Given the description of an element on the screen output the (x, y) to click on. 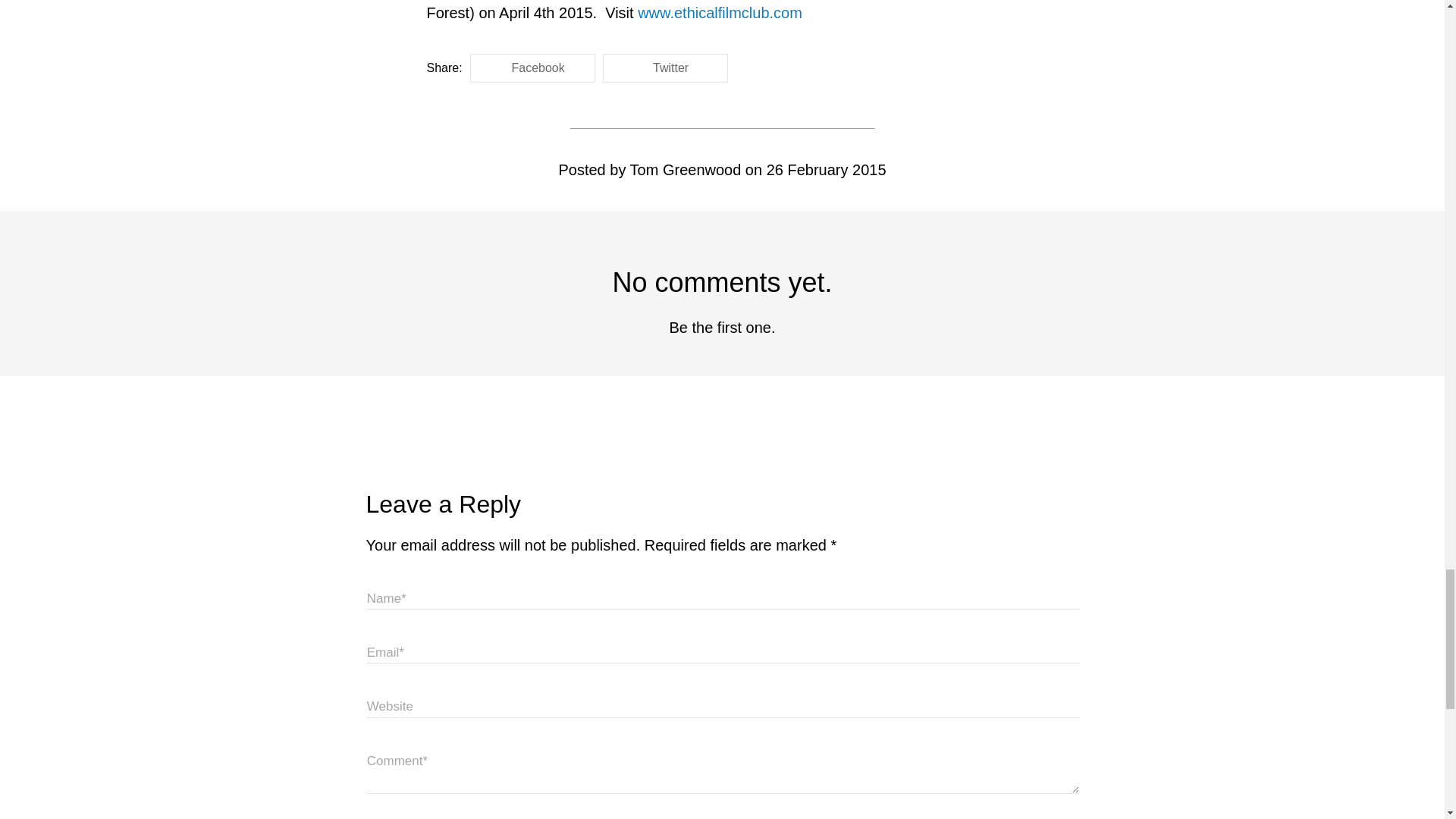
Share on Facebook (532, 68)
www.ethicalfilmclub.com (719, 12)
Facebook (532, 68)
This field is required! (721, 770)
Twitter (665, 68)
This field is required! (721, 650)
This field is required! (721, 597)
